Given the description of an element on the screen output the (x, y) to click on. 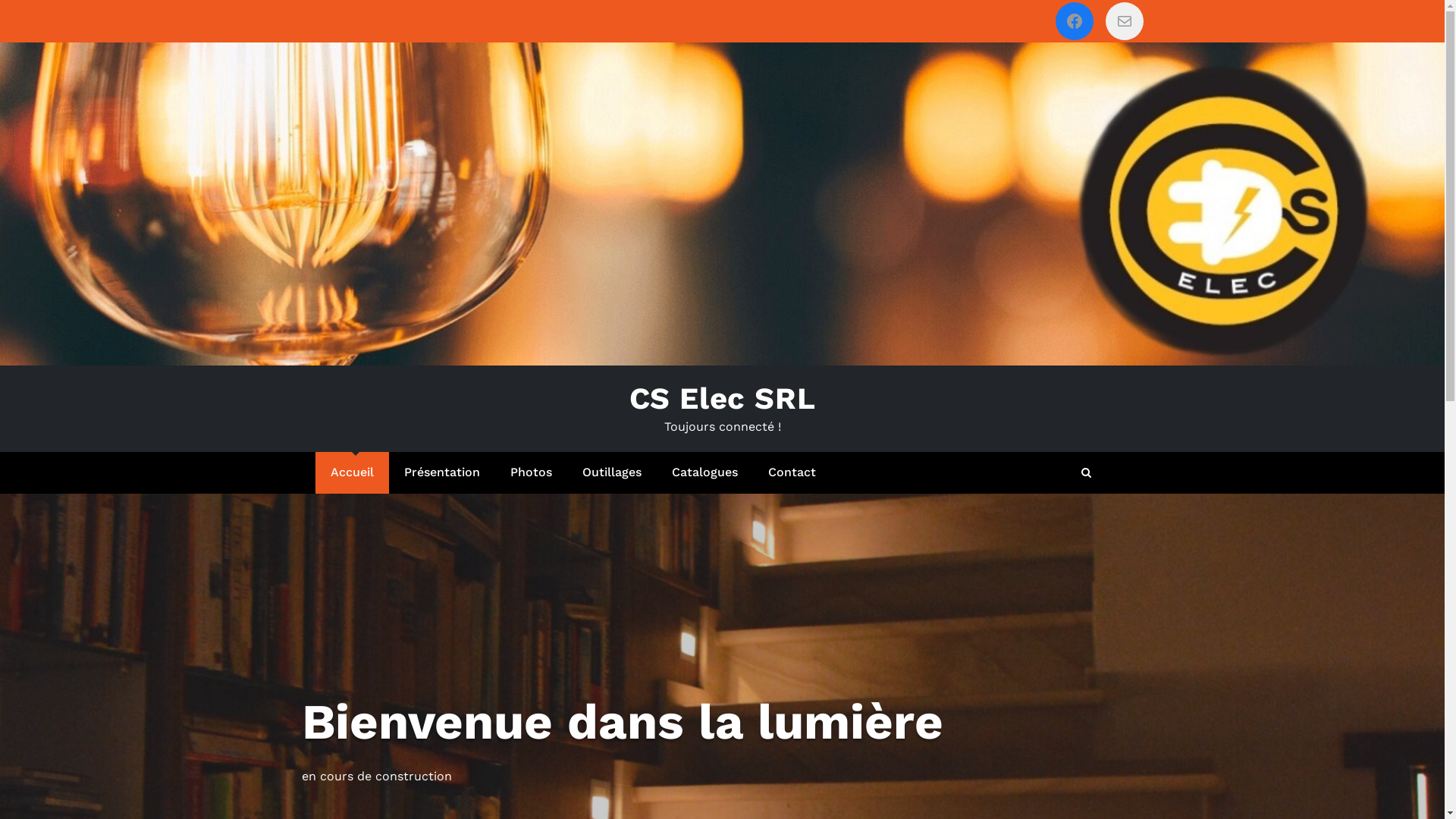
Outillages Element type: text (611, 472)
Photos Element type: text (530, 472)
Accueil Element type: text (352, 472)
Contact Element type: text (791, 472)
Mail Element type: text (1123, 20)
CS Elec SRL Element type: text (1073, 20)
Catalogues Element type: text (704, 472)
CS Elec SRL Element type: text (722, 398)
Rechercher Element type: hover (1087, 472)
